Given the description of an element on the screen output the (x, y) to click on. 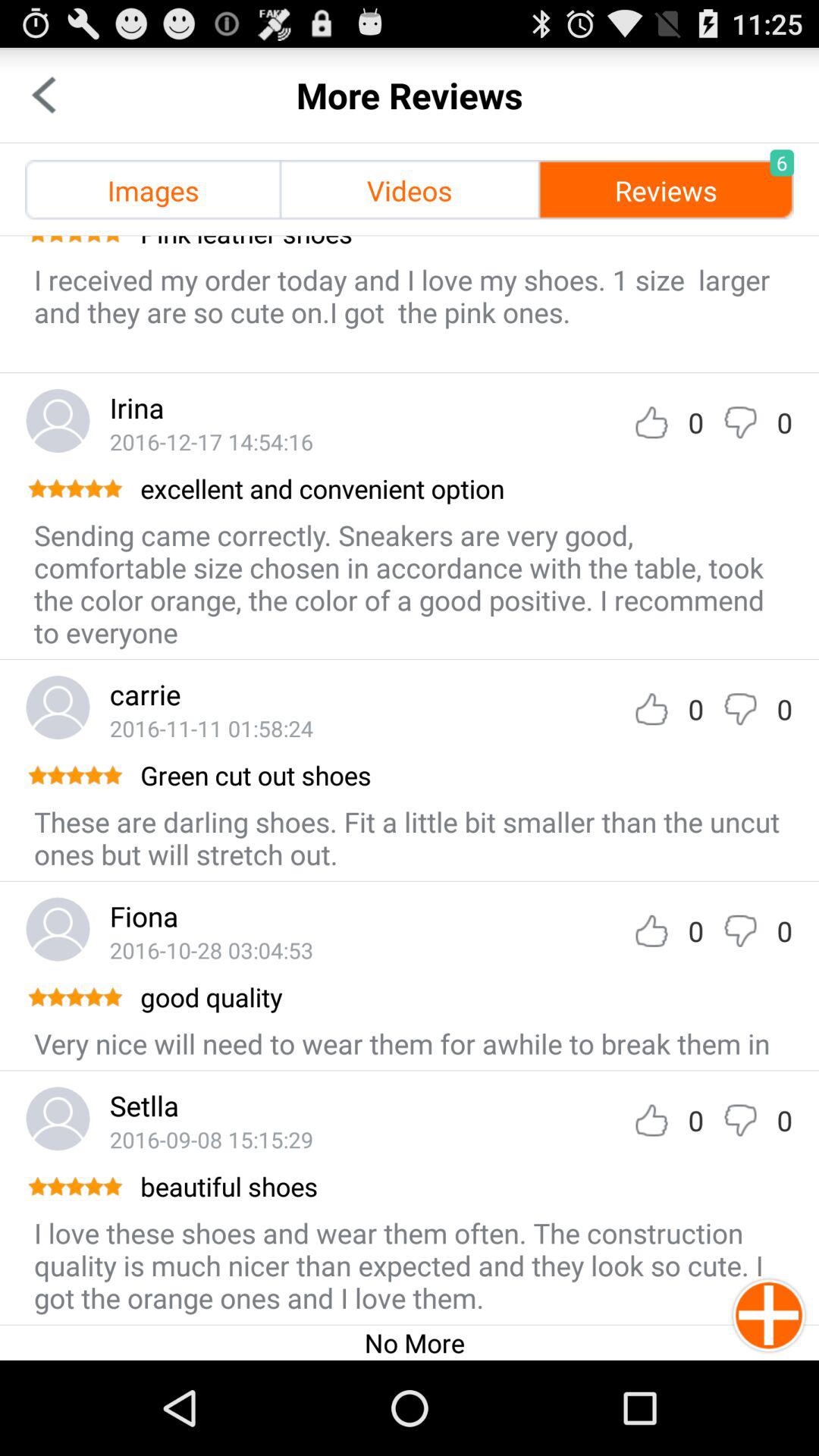
flip to the videos icon (409, 189)
